Given the description of an element on the screen output the (x, y) to click on. 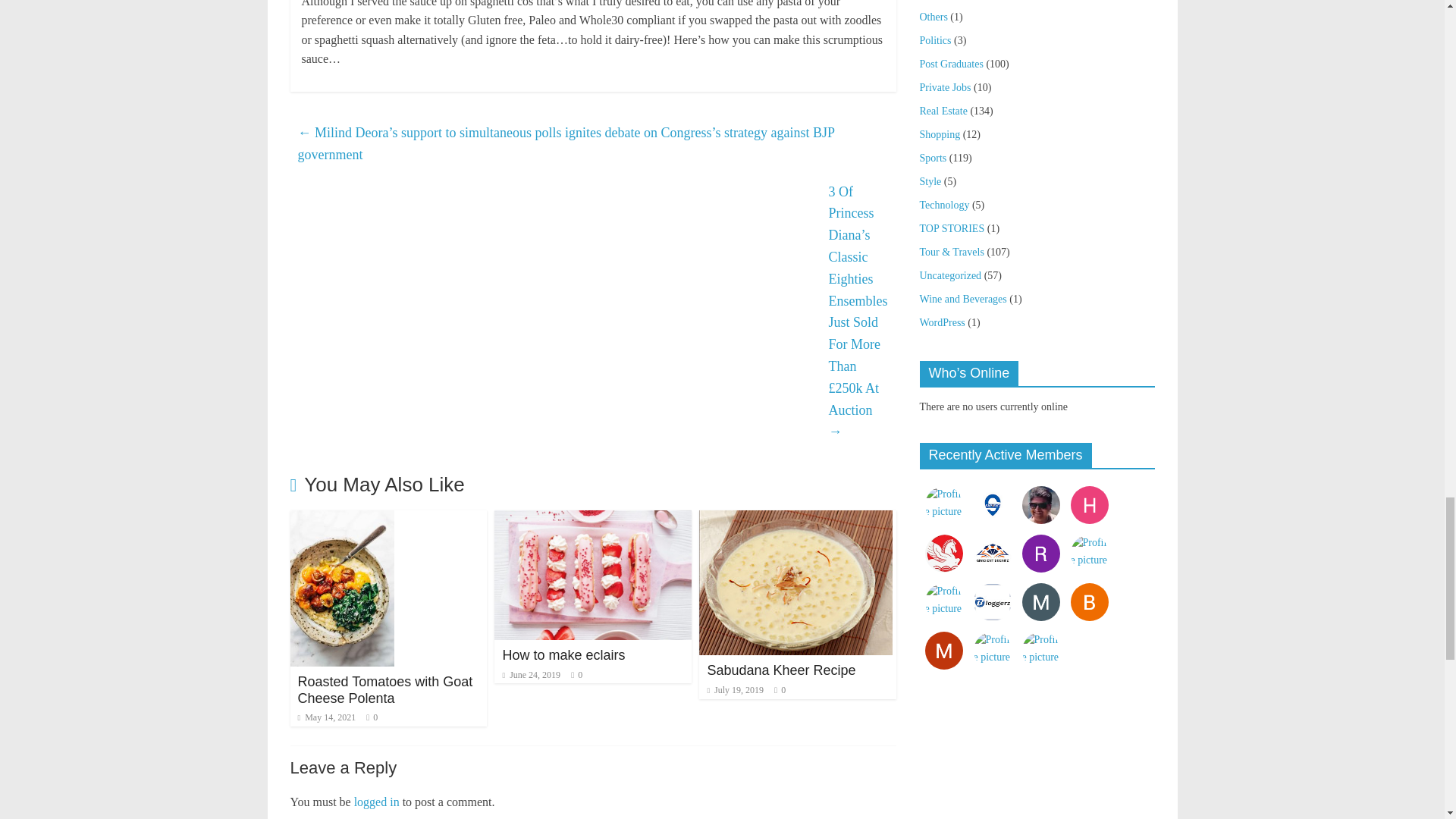
10:51 am (734, 689)
Sabudana Kheer Recipe (781, 670)
How to make eclairs (593, 519)
Roasted Tomatoes with Goat Cheese Polenta (384, 689)
Sabudana Kheer Recipe (795, 519)
4:38 pm (326, 716)
3:45 pm (531, 674)
How to make eclairs (563, 654)
Roasted Tomatoes with Goat Cheese Polenta (341, 519)
